Given the description of an element on the screen output the (x, y) to click on. 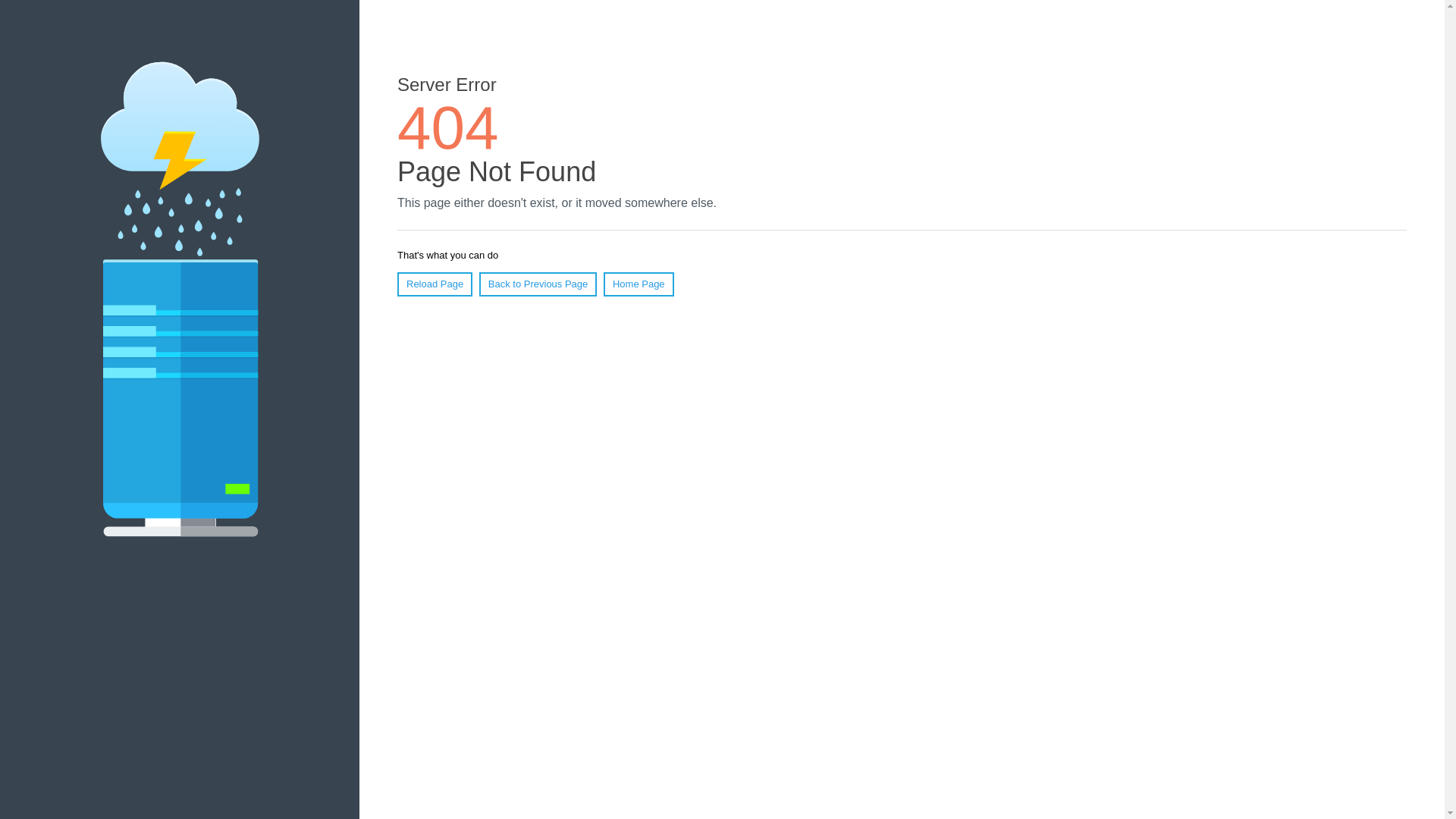
Reload Page Element type: text (434, 284)
Back to Previous Page Element type: text (538, 284)
Home Page Element type: text (638, 284)
